Given the description of an element on the screen output the (x, y) to click on. 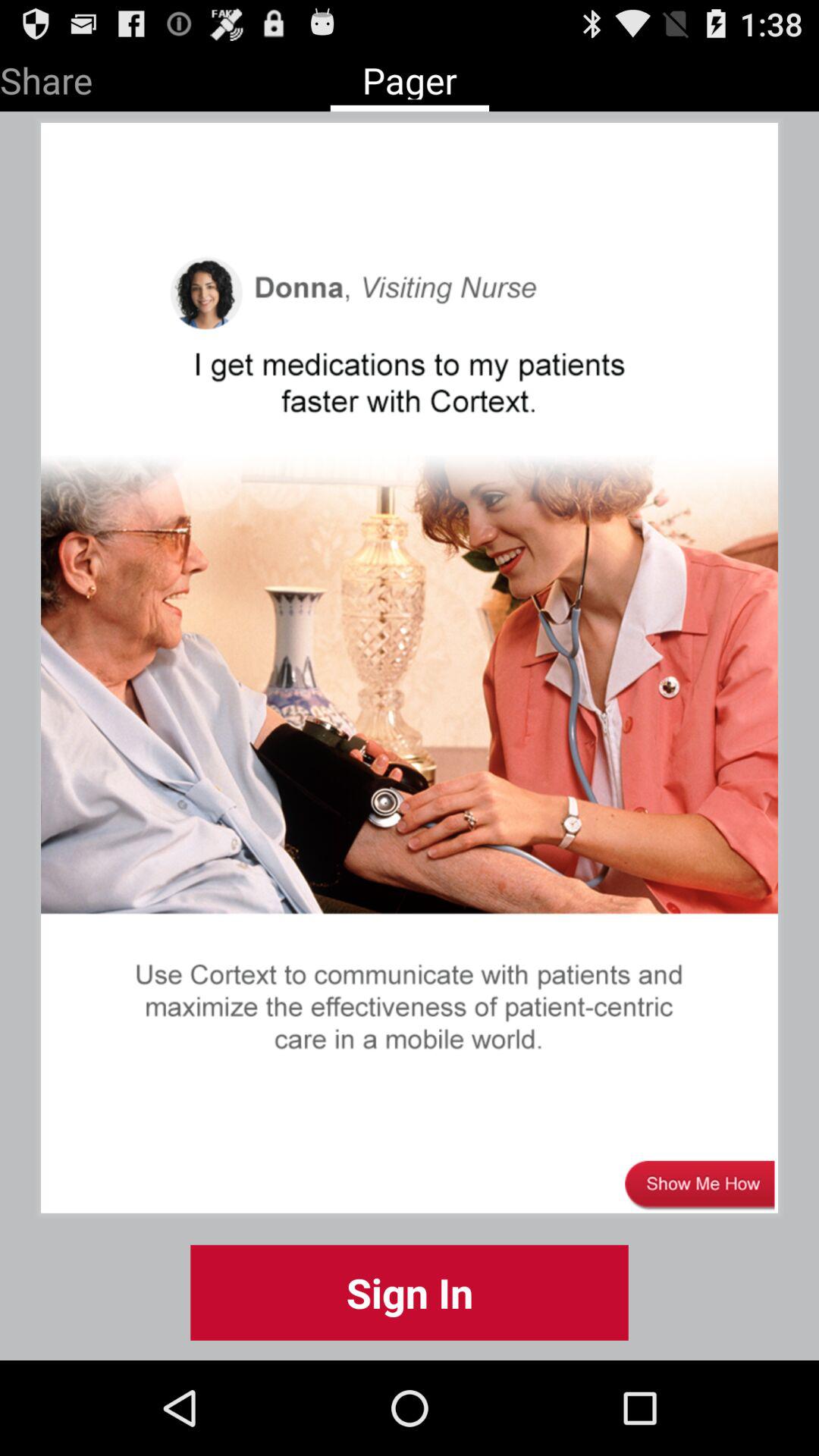
turn off sign in at the bottom (409, 1292)
